Given the description of an element on the screen output the (x, y) to click on. 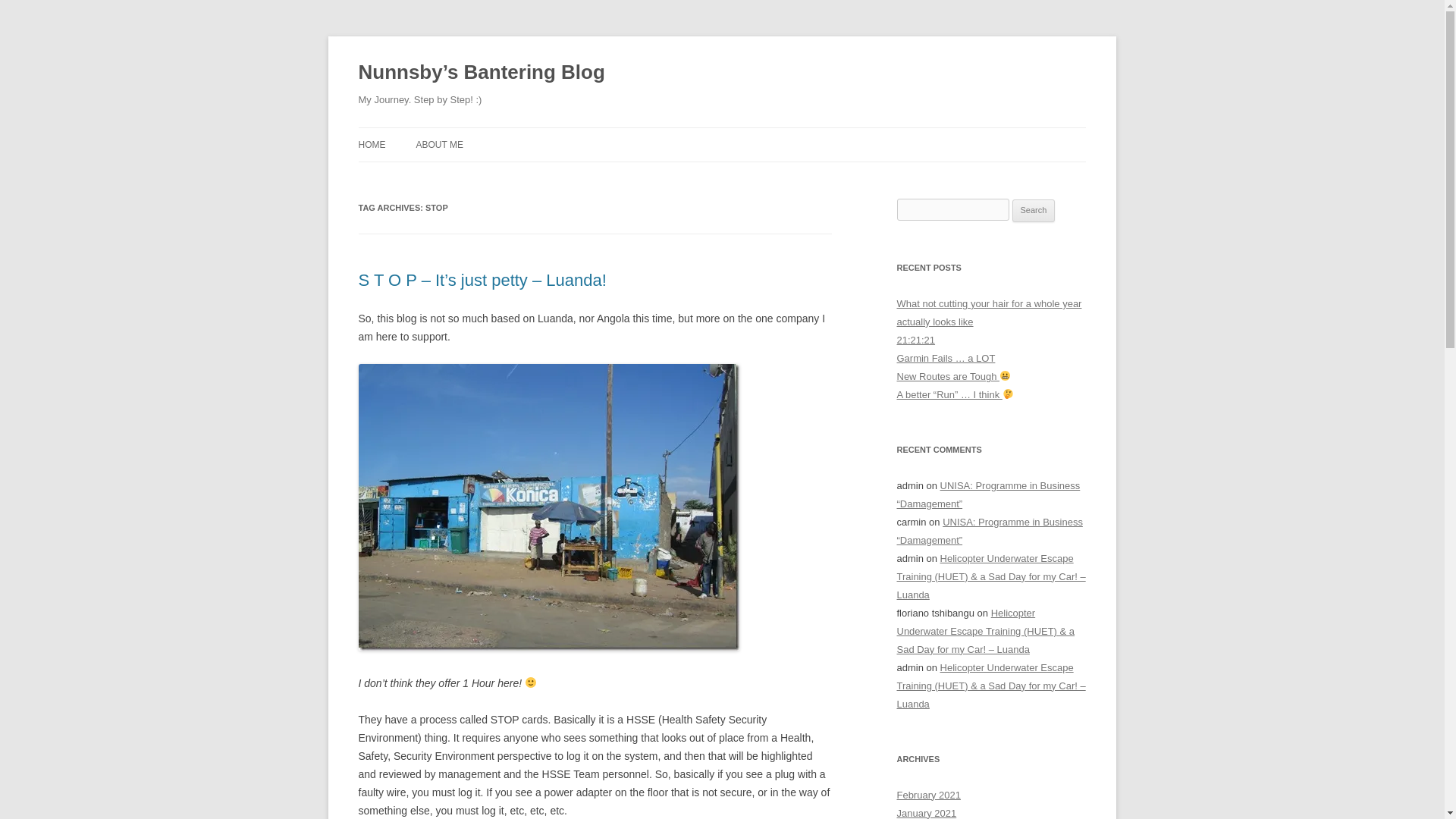
January 2021 (926, 813)
Search (1033, 210)
New Routes are Tough (953, 376)
Search (1033, 210)
ABOUT ME (438, 144)
21:21:21 (915, 339)
February 2021 (927, 794)
